Given the description of an element on the screen output the (x, y) to click on. 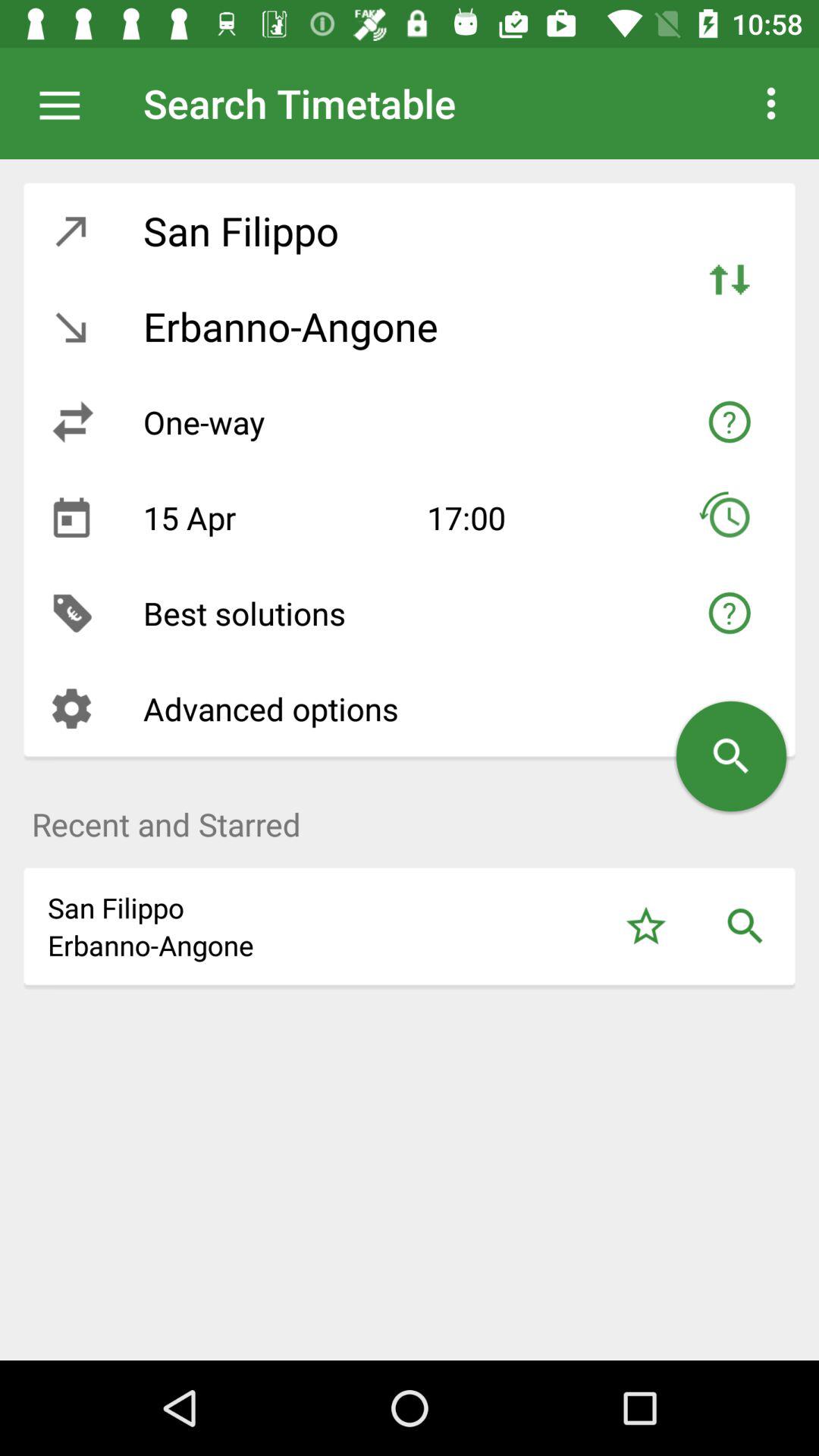
click item next to the best solutions icon (71, 613)
